Given the description of an element on the screen output the (x, y) to click on. 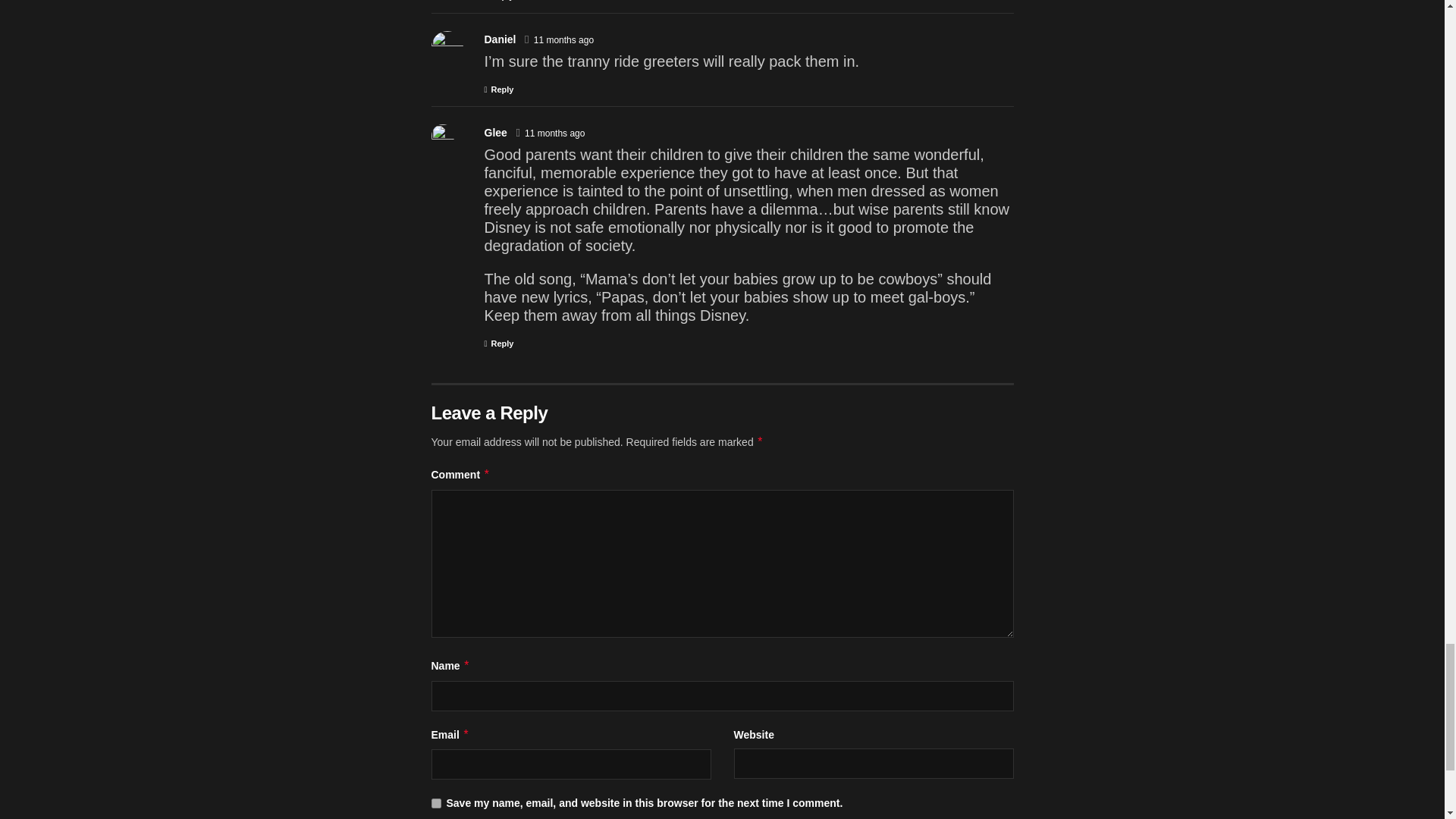
yes (435, 803)
